Given the description of an element on the screen output the (x, y) to click on. 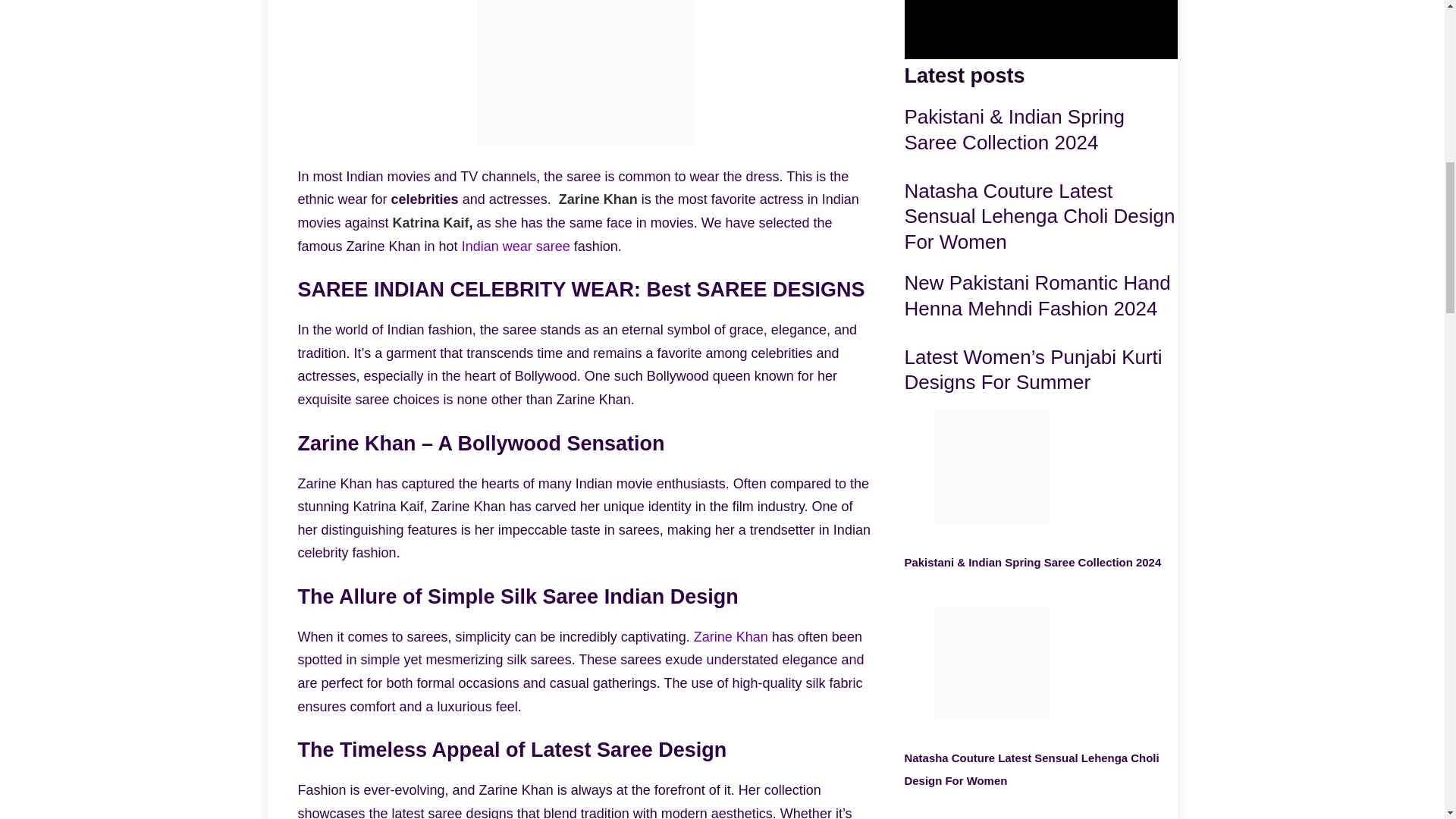
Zarine Khan (731, 636)
Bollywood Actress Zarine Khan Hot In Saree Style (731, 636)
Indian wear saree (515, 246)
